Given the description of an element on the screen output the (x, y) to click on. 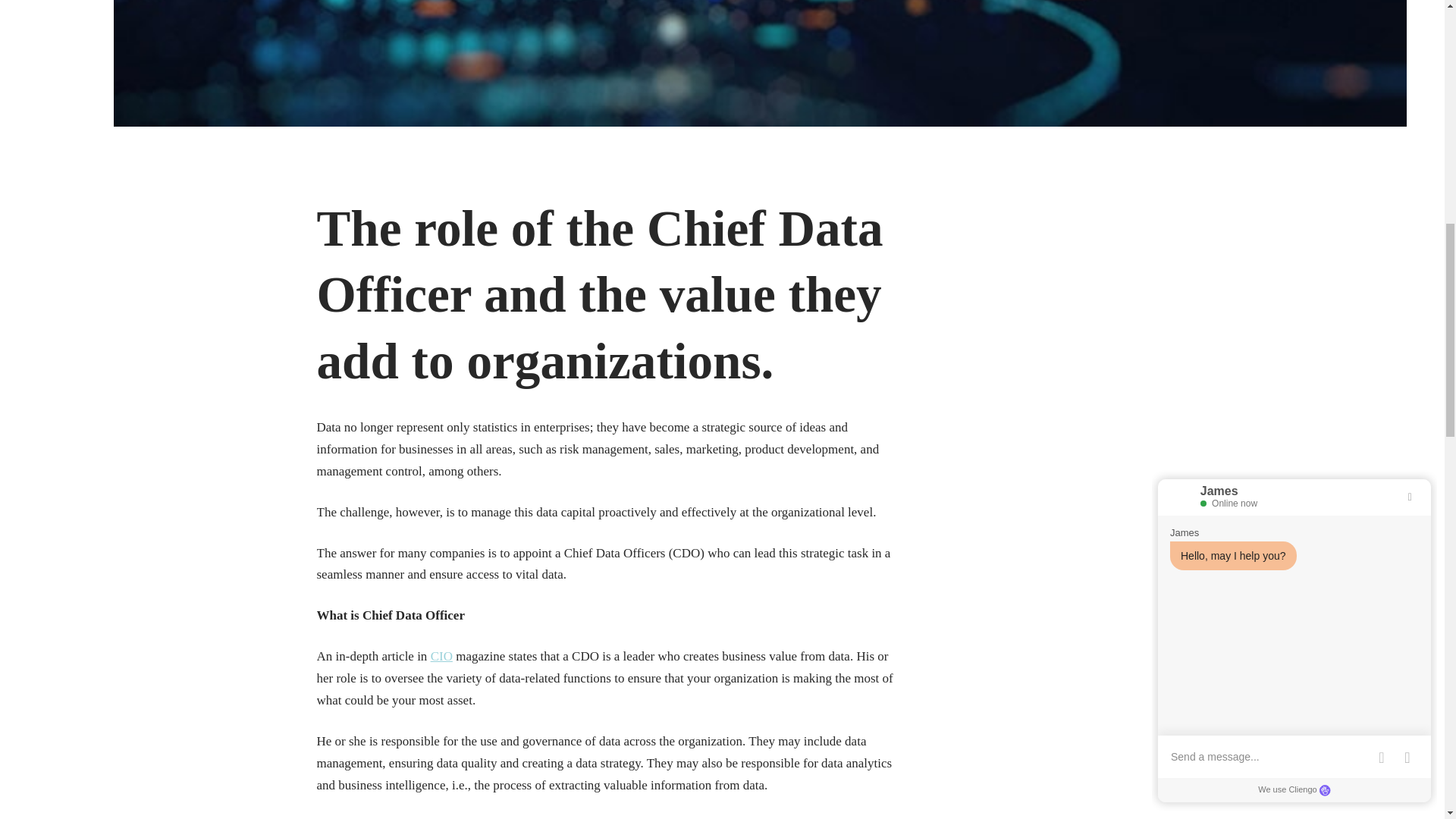
CIO (441, 656)
